Given the description of an element on the screen output the (x, y) to click on. 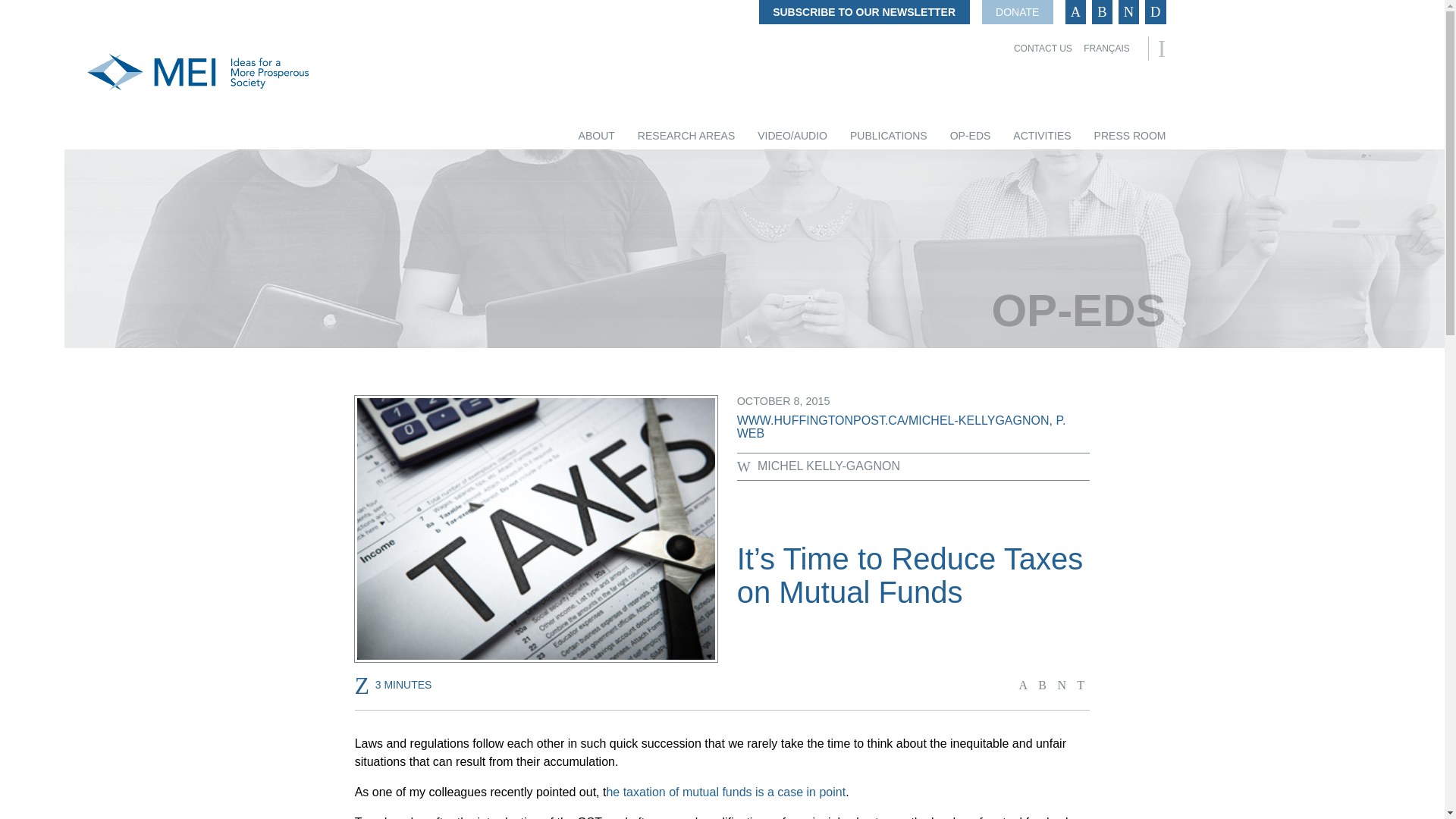
ABOUT (596, 135)
PUBLICATIONS (888, 135)
RESEARCH AREAS (686, 135)
